Given the description of an element on the screen output the (x, y) to click on. 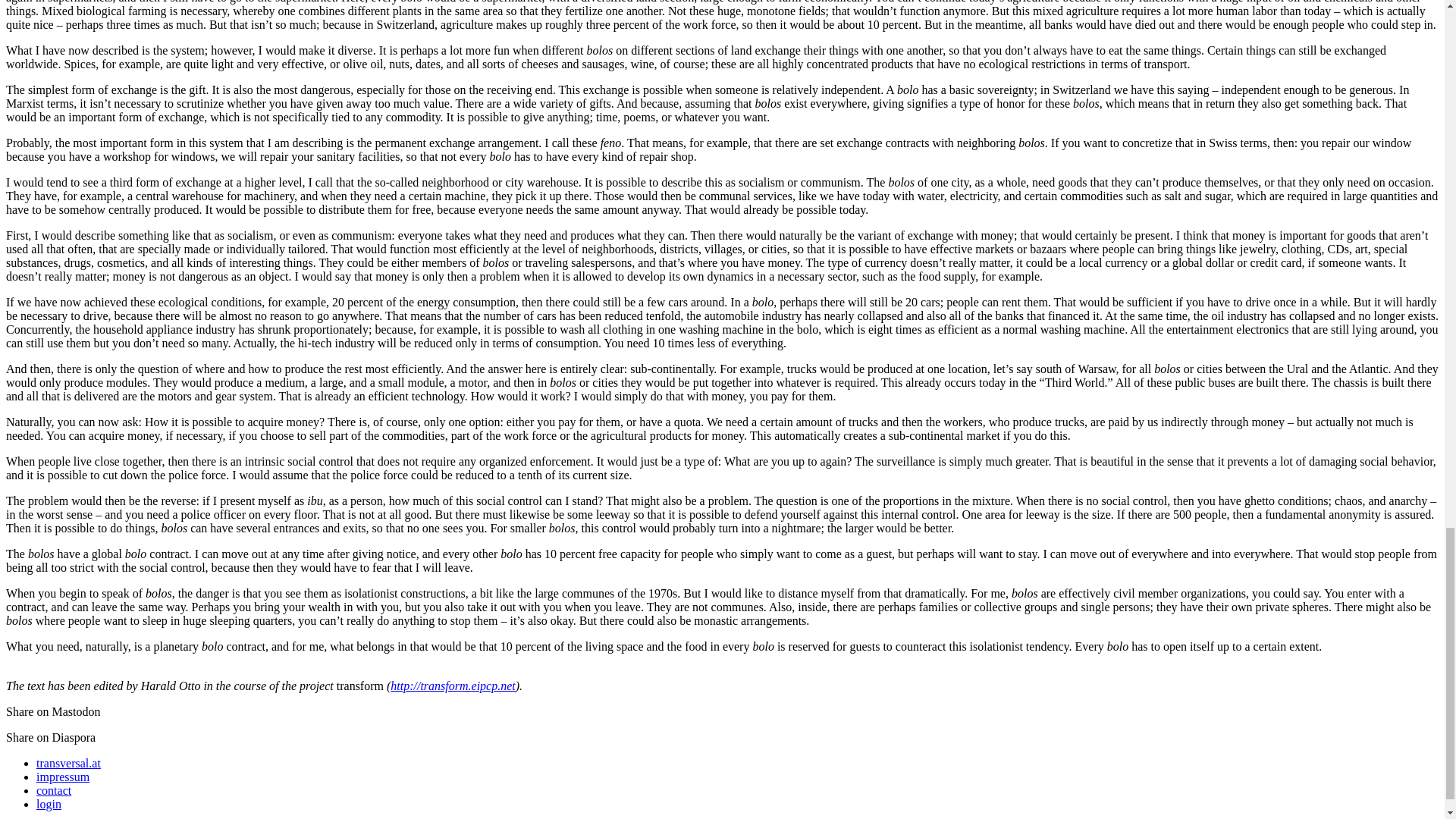
transversal.at (68, 762)
impressum (62, 776)
Share on Diaspora (50, 737)
contact (53, 789)
Share on Mastodon (52, 711)
login (48, 803)
